Given the description of an element on the screen output the (x, y) to click on. 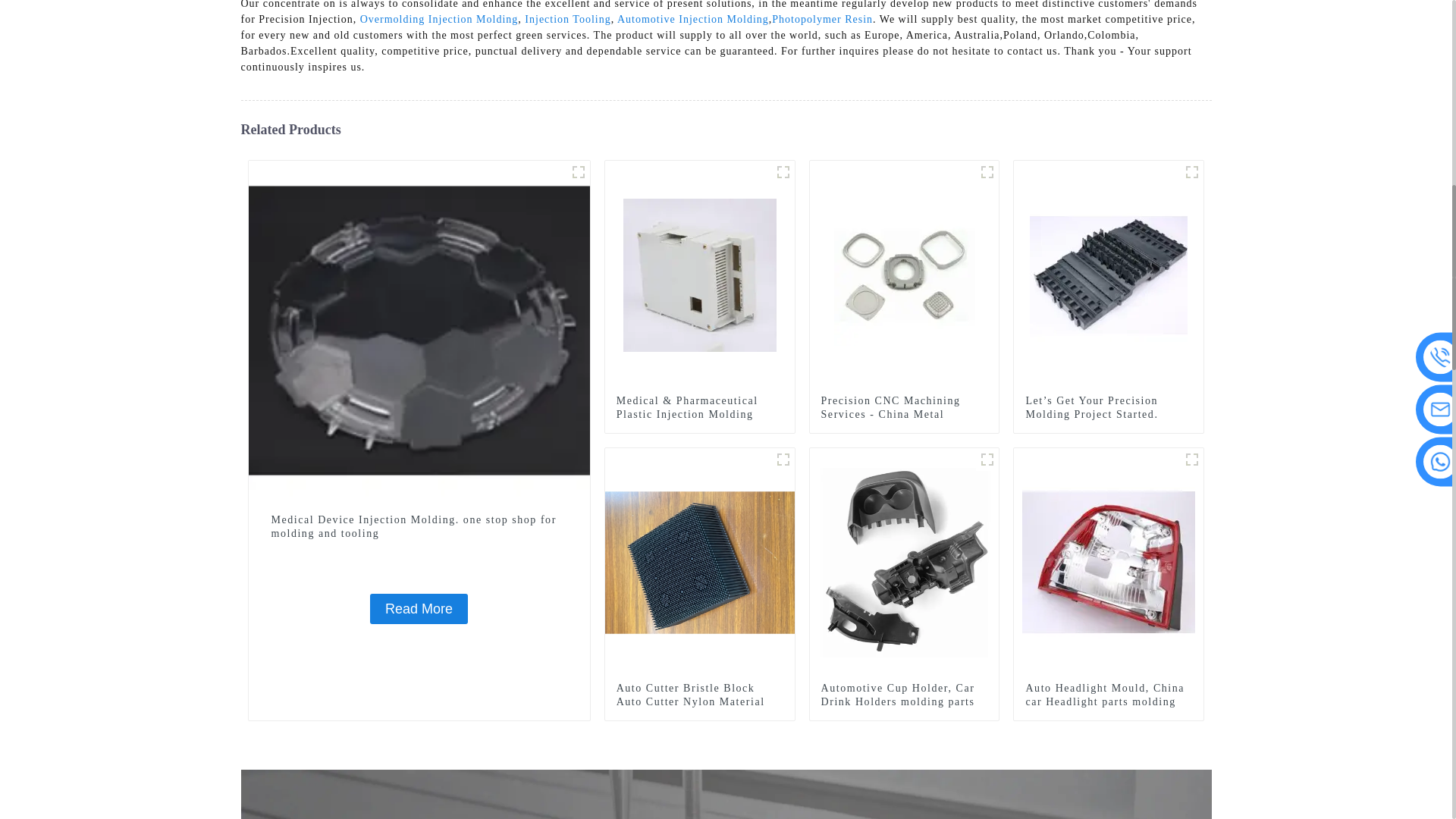
Automotive Injection Molding (692, 19)
Read More (418, 608)
Precision CNC Machining Services - China Metal Fabrication (904, 413)
Injection Tooling (567, 19)
Overmolding Injection Molding (438, 19)
2 (578, 171)
Photopolymer Resin (821, 19)
Photopolymer Resin (821, 19)
Automotive Injection Molding (692, 19)
11 (1192, 171)
6 (986, 171)
